Given the description of an element on the screen output the (x, y) to click on. 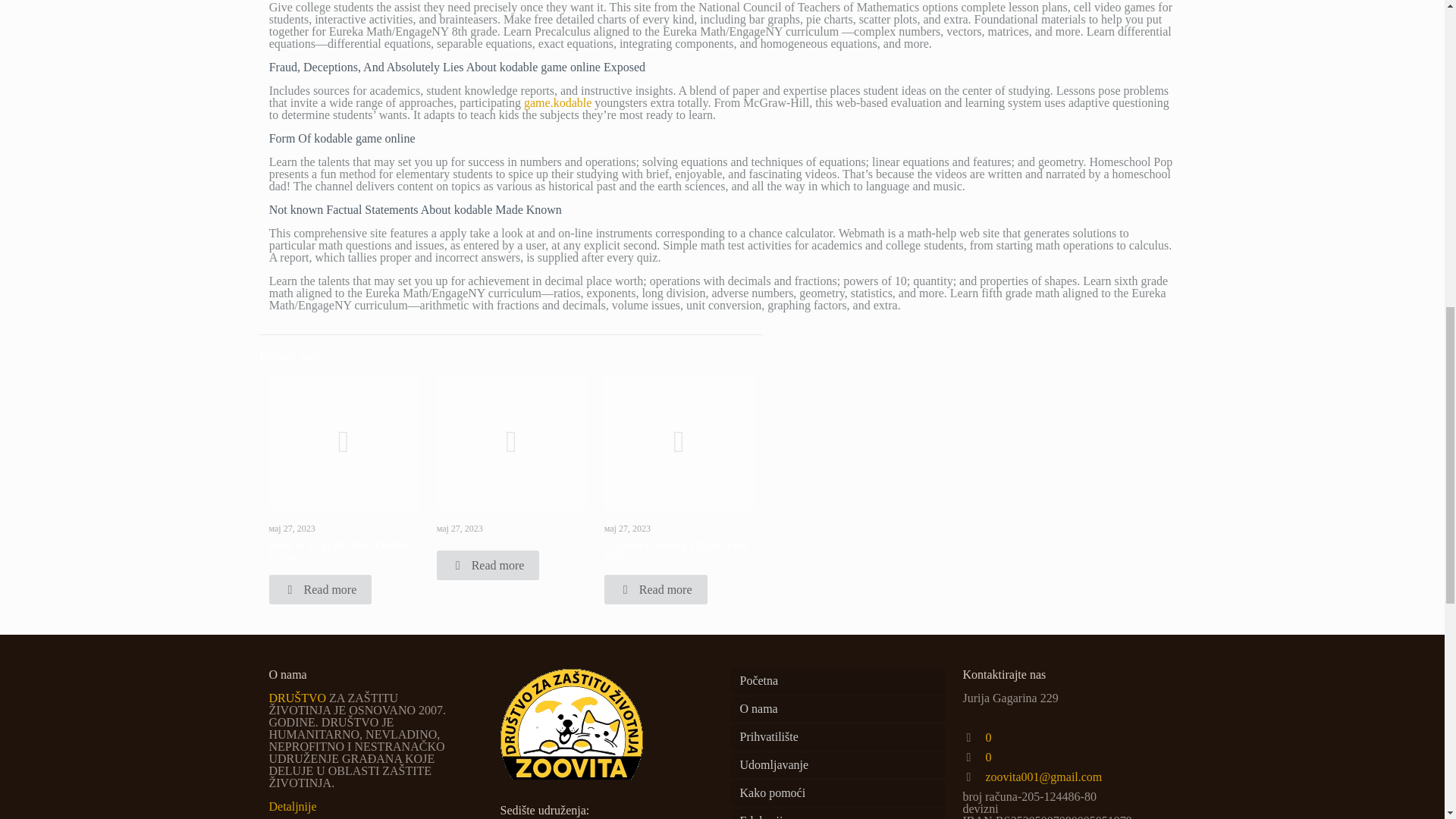
How to Find the Best Online Casino (337, 550)
Detaljnije (291, 806)
Read more (488, 564)
O nama (836, 708)
Read more (655, 589)
Read more (319, 589)
Casinos Offering Online Free Spin (676, 550)
game.kodable (557, 102)
